Given the description of an element on the screen output the (x, y) to click on. 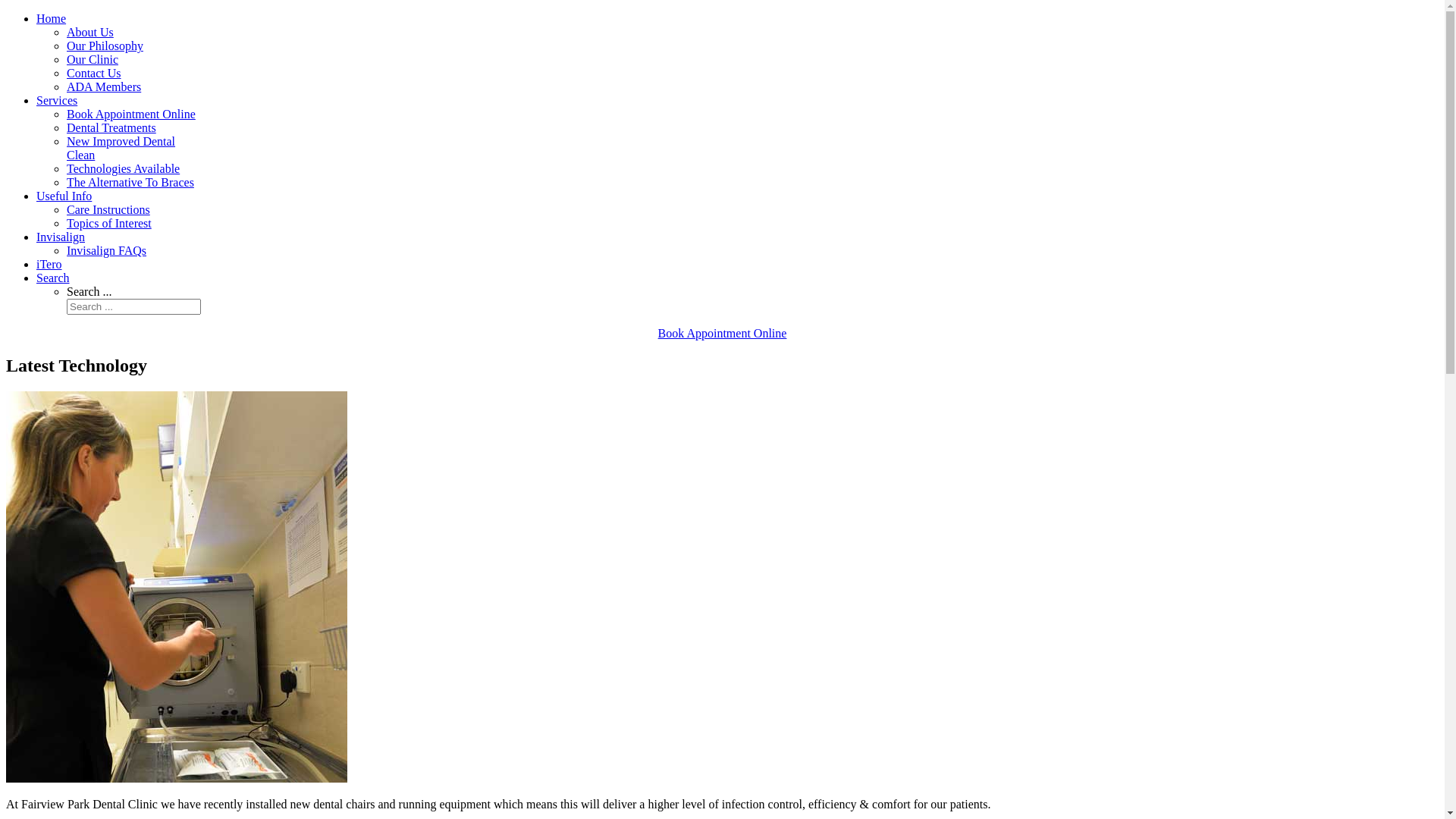
Search Element type: text (52, 277)
Dental Treatments Element type: text (111, 127)
Useful Info Element type: text (63, 195)
ADA Members Element type: text (103, 86)
Book Appointment Online Element type: text (130, 113)
Services Element type: text (56, 100)
Contact Us Element type: text (93, 72)
The Alternative To Braces Element type: text (130, 181)
Care Instructions Element type: text (108, 209)
Topics of Interest Element type: text (108, 222)
Technologies Available Element type: text (122, 168)
Our Clinic Element type: text (92, 59)
About Us Element type: text (89, 31)
Invisalign FAQs Element type: text (106, 250)
Home Element type: text (50, 18)
iTero Element type: text (49, 263)
Book Appointment Online Element type: text (722, 332)
New Improved Dental Clean Element type: text (120, 147)
Invisalign Element type: text (60, 236)
Our Philosophy Element type: text (104, 45)
